Given the description of an element on the screen output the (x, y) to click on. 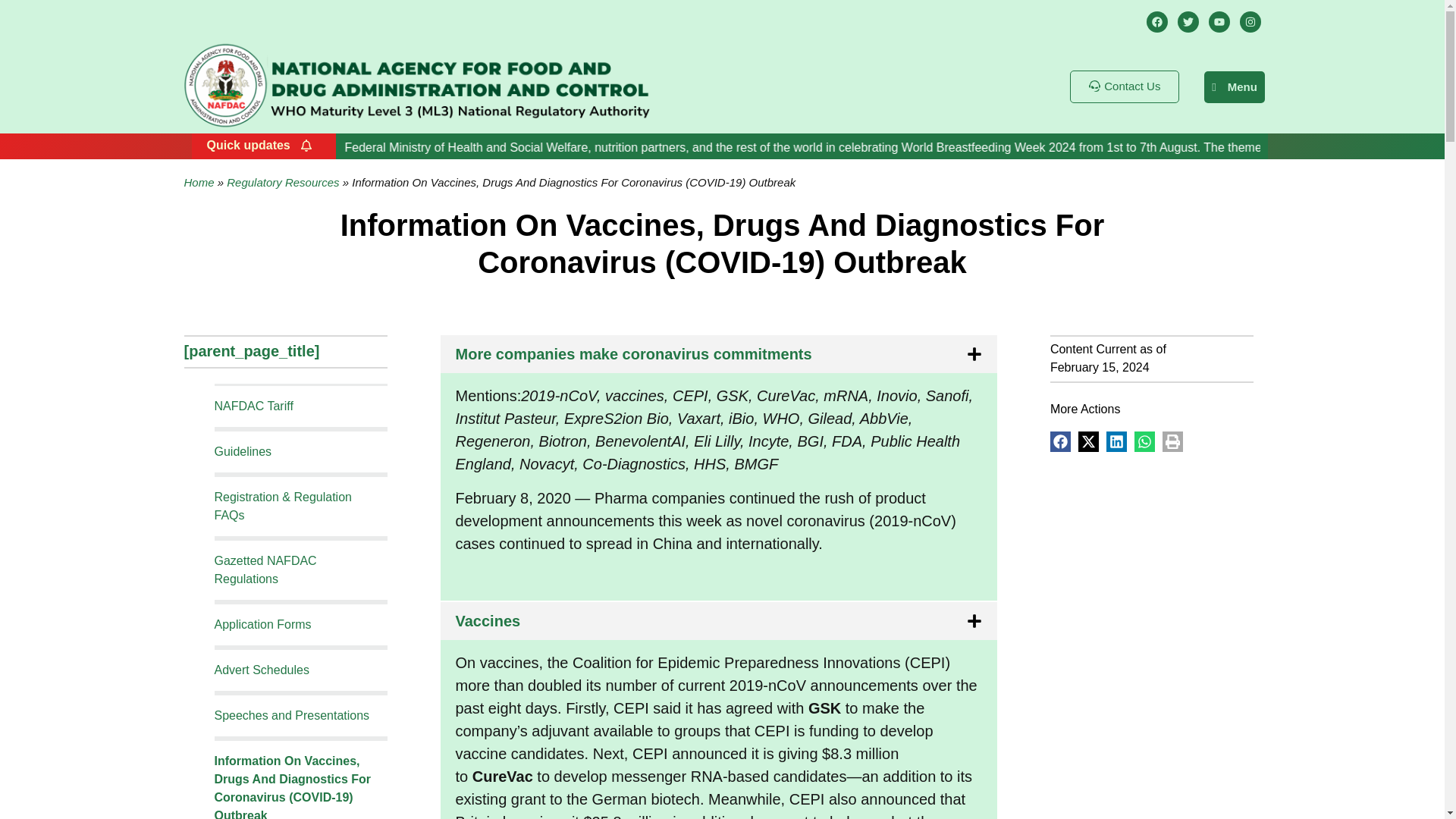
Contact Us (1124, 86)
Advert Schedules (261, 669)
Regulatory Resources (283, 182)
NAFDAC Tariff (253, 405)
Gazetted NAFDAC Regulations (264, 569)
Quick updates (258, 146)
Guidelines (242, 451)
Speeches and Presentations (291, 715)
Home (198, 182)
Application Forms (262, 624)
Menu (1234, 87)
